Given the description of an element on the screen output the (x, y) to click on. 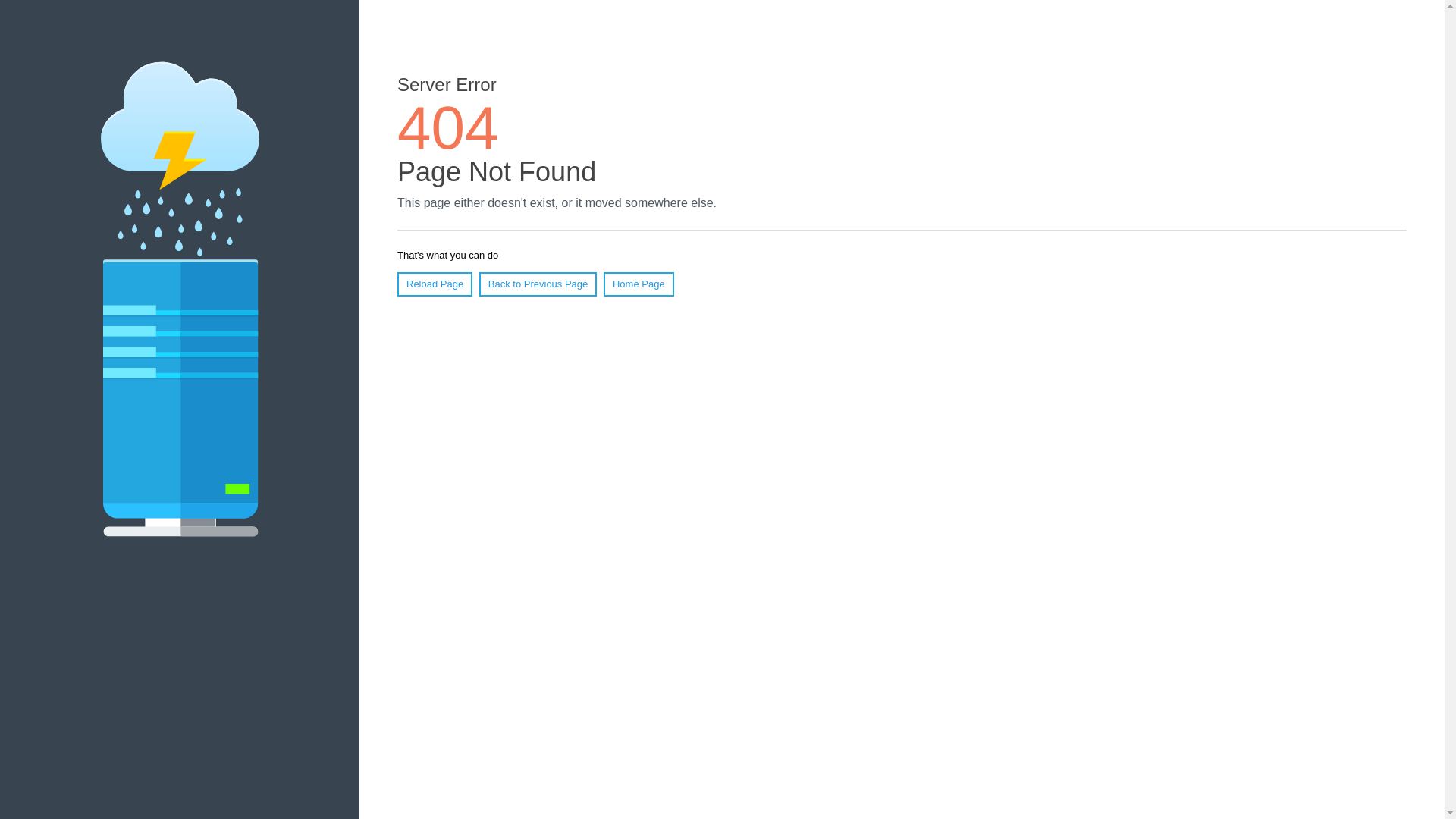
Home Page Element type: text (638, 284)
Reload Page Element type: text (434, 284)
Back to Previous Page Element type: text (538, 284)
